Given the description of an element on the screen output the (x, y) to click on. 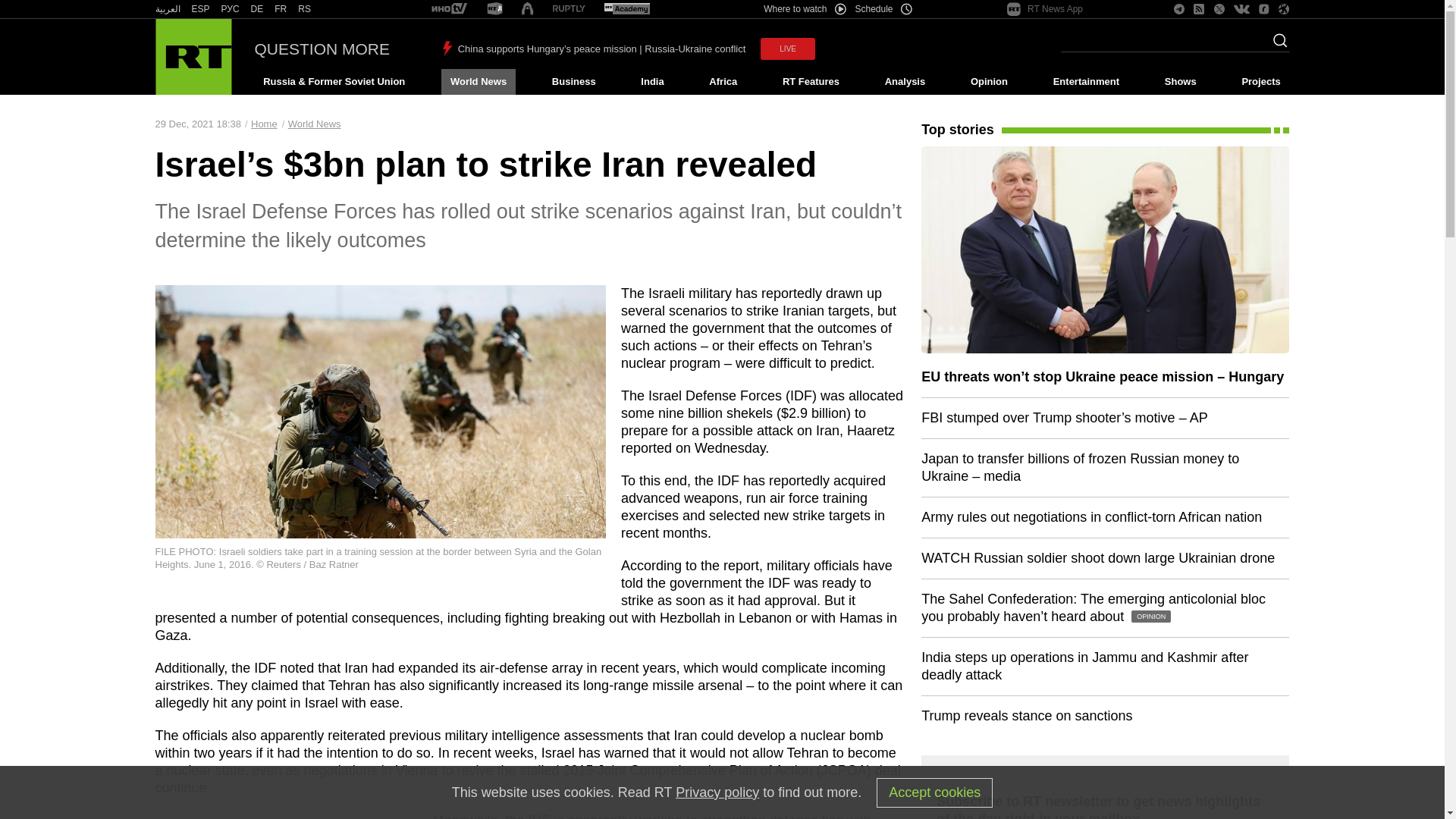
Business (573, 81)
RT  (166, 9)
RT  (230, 9)
FR (280, 9)
Entertainment (1085, 81)
Africa (722, 81)
Projects (1261, 81)
Opinion (988, 81)
RT Features (810, 81)
RT  (526, 9)
Search (1276, 44)
RT  (256, 9)
RS (304, 9)
RT  (280, 9)
RT  (448, 9)
